Given the description of an element on the screen output the (x, y) to click on. 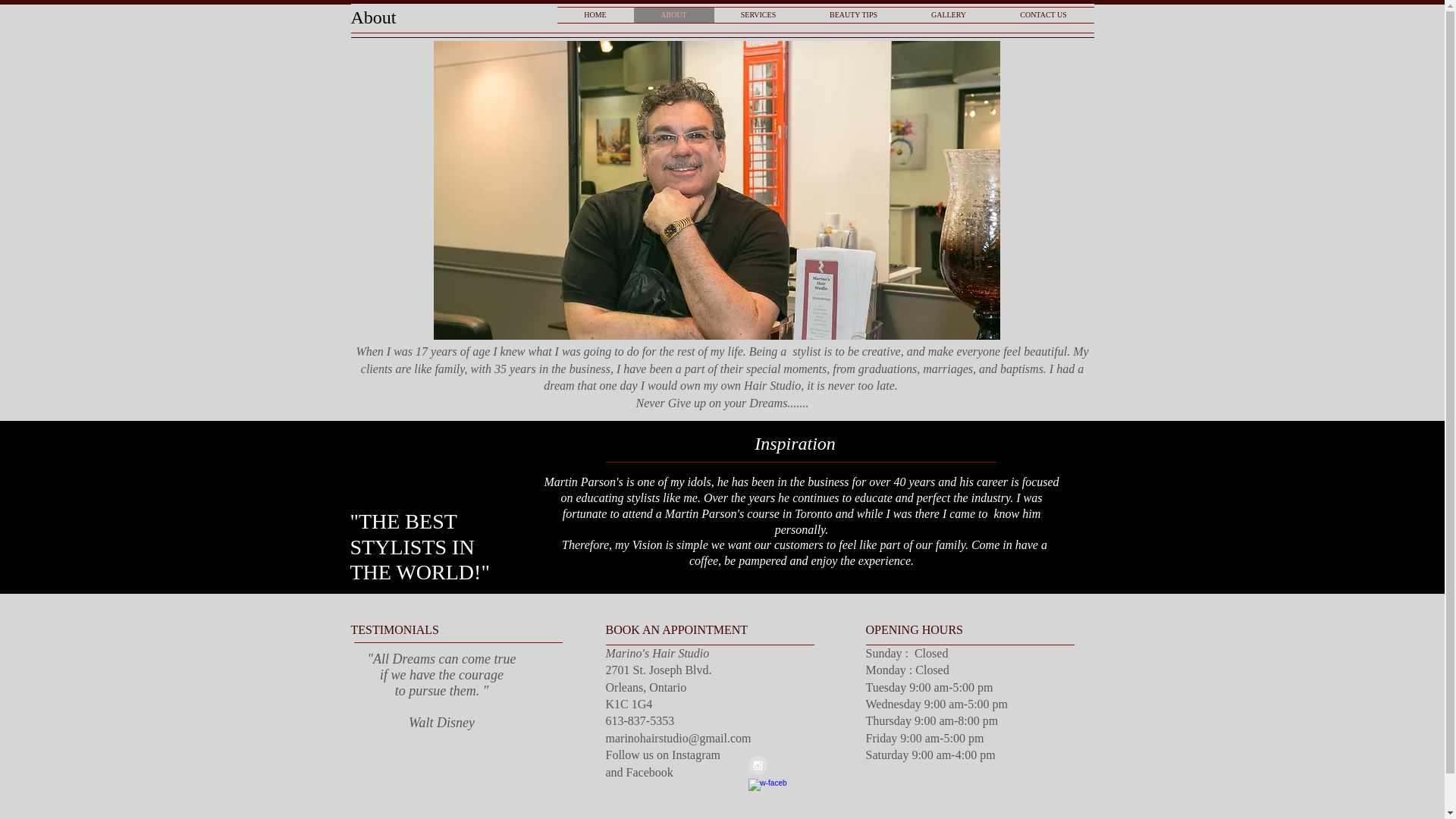
SERVICES (758, 14)
GALLERY (948, 14)
ABOUT (673, 14)
HOME (594, 14)
CONTACT US (1043, 14)
BEAUTY TIPS (853, 14)
